Given the description of an element on the screen output the (x, y) to click on. 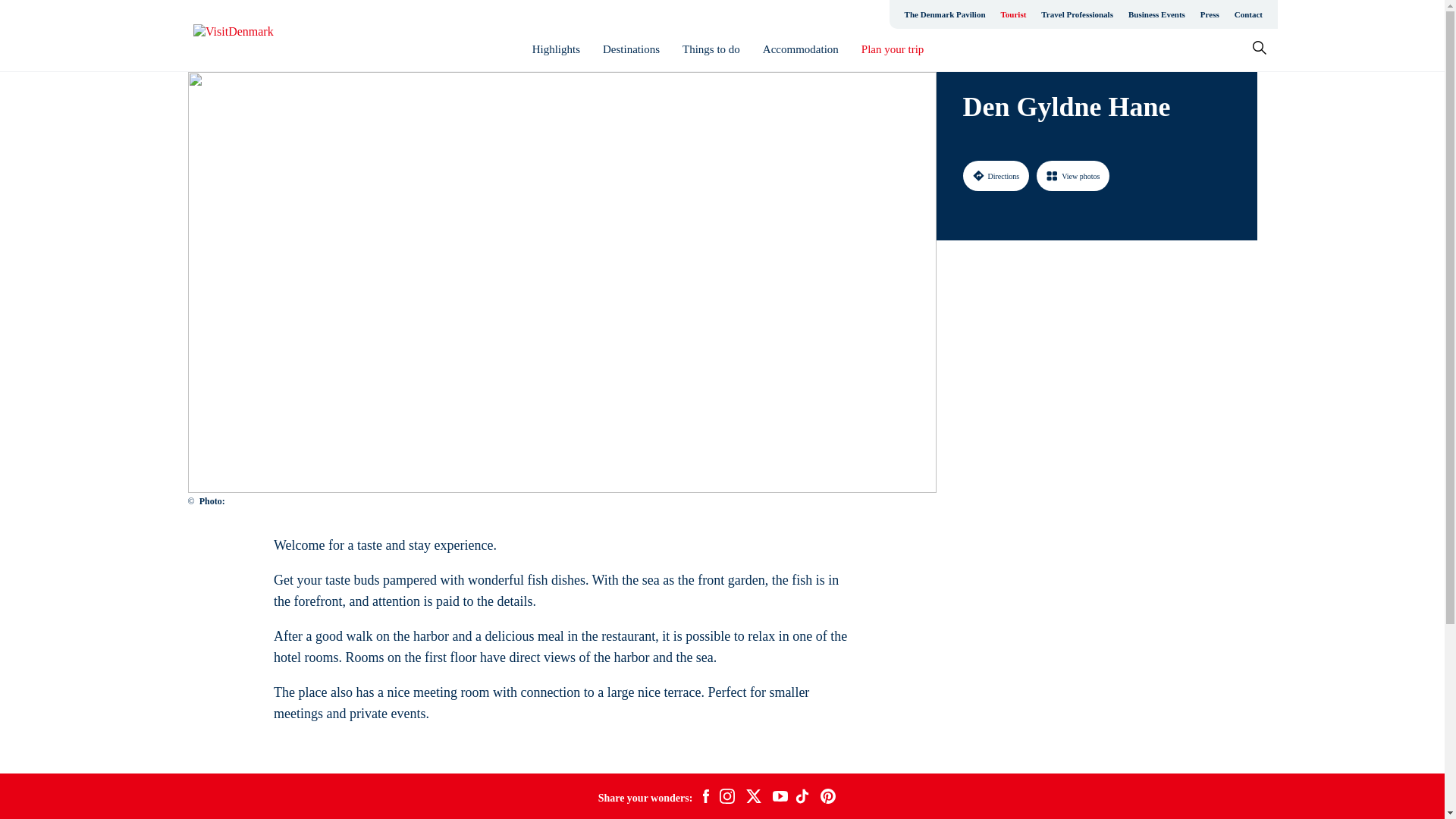
Highlights (555, 49)
Contact (1248, 14)
Accommodation (800, 49)
tiktok (804, 798)
Travel Professionals (1077, 14)
pinterest (828, 798)
Things to do (710, 49)
The Denmark Pavilion (944, 14)
Go to homepage (253, 35)
Business Events (1156, 14)
Directions (995, 175)
Plan your trip (892, 49)
facebook (705, 798)
instagram (726, 798)
youtube (780, 797)
